Given the description of an element on the screen output the (x, y) to click on. 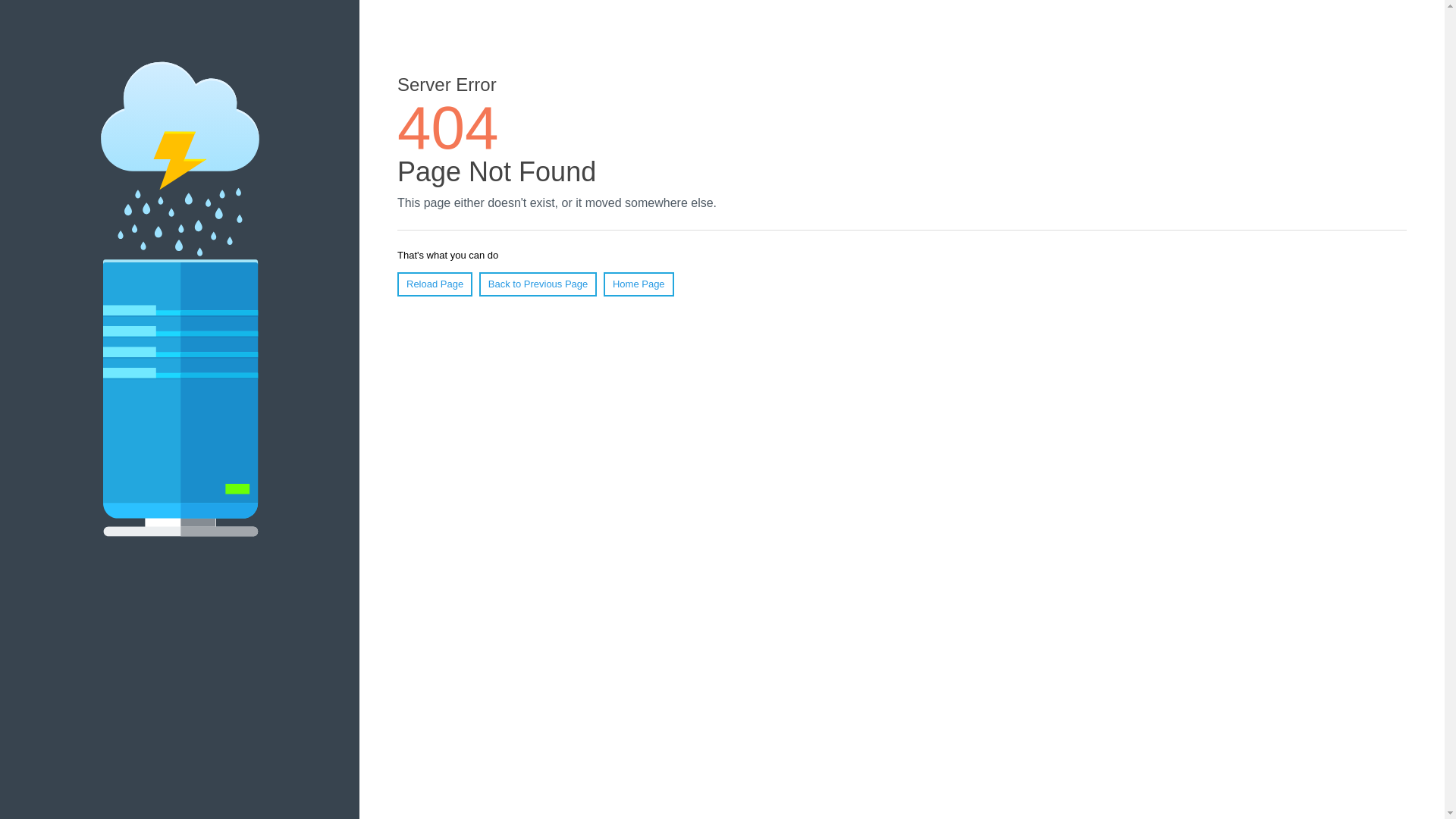
Reload Page (434, 283)
Home Page (639, 283)
Back to Previous Page (537, 283)
